Given the description of an element on the screen output the (x, y) to click on. 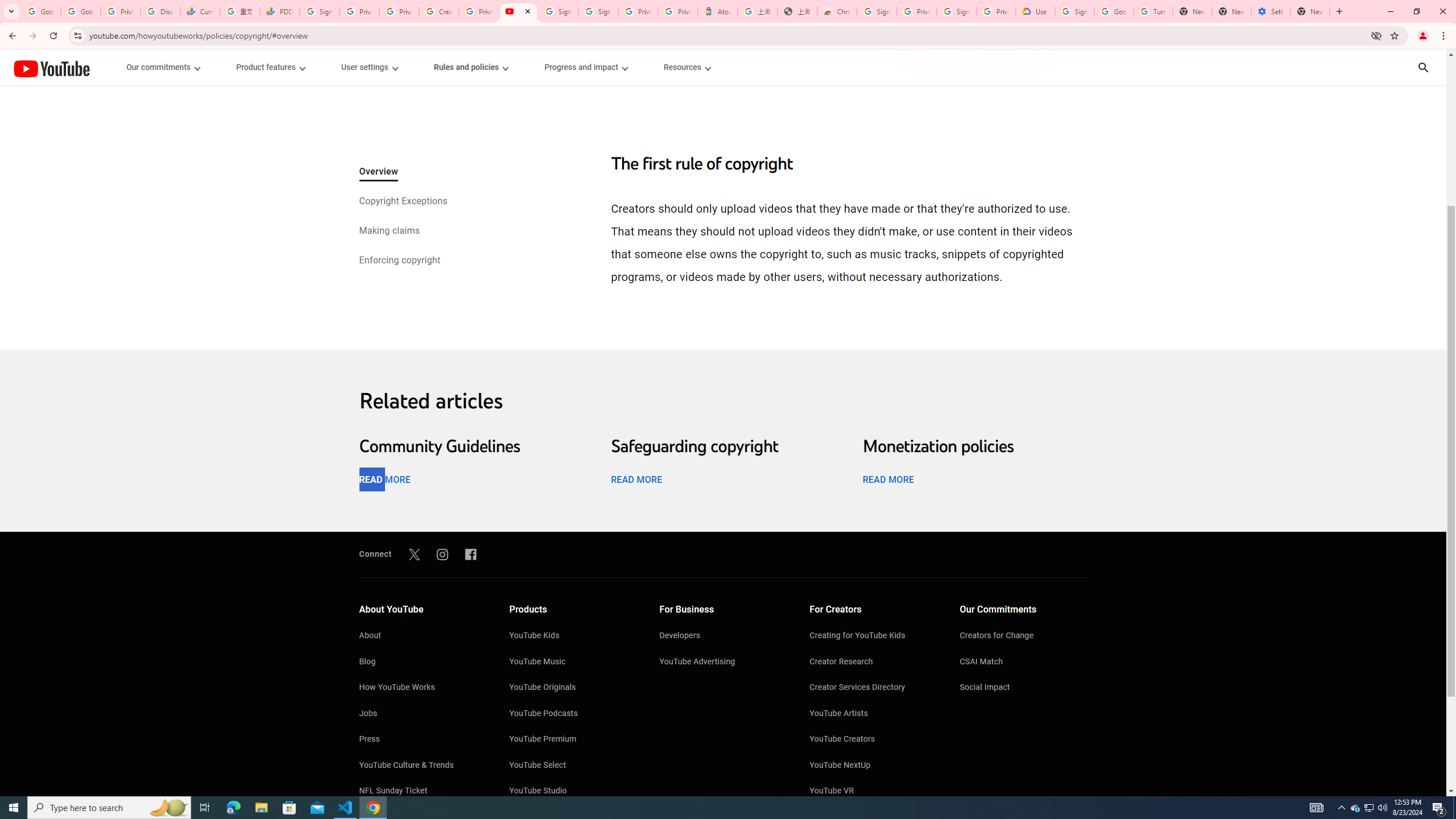
Sign in - Google Accounts (1074, 11)
New Tab (1310, 11)
Rules and policies menupopup (470, 67)
CSAI Match (1023, 662)
YouTube Artists (873, 714)
YouTube Creators (873, 740)
Play (723, 469)
Facebook (470, 553)
User settings menupopup (368, 67)
Jobs (422, 714)
Search (1423, 67)
